Given the description of an element on the screen output the (x, y) to click on. 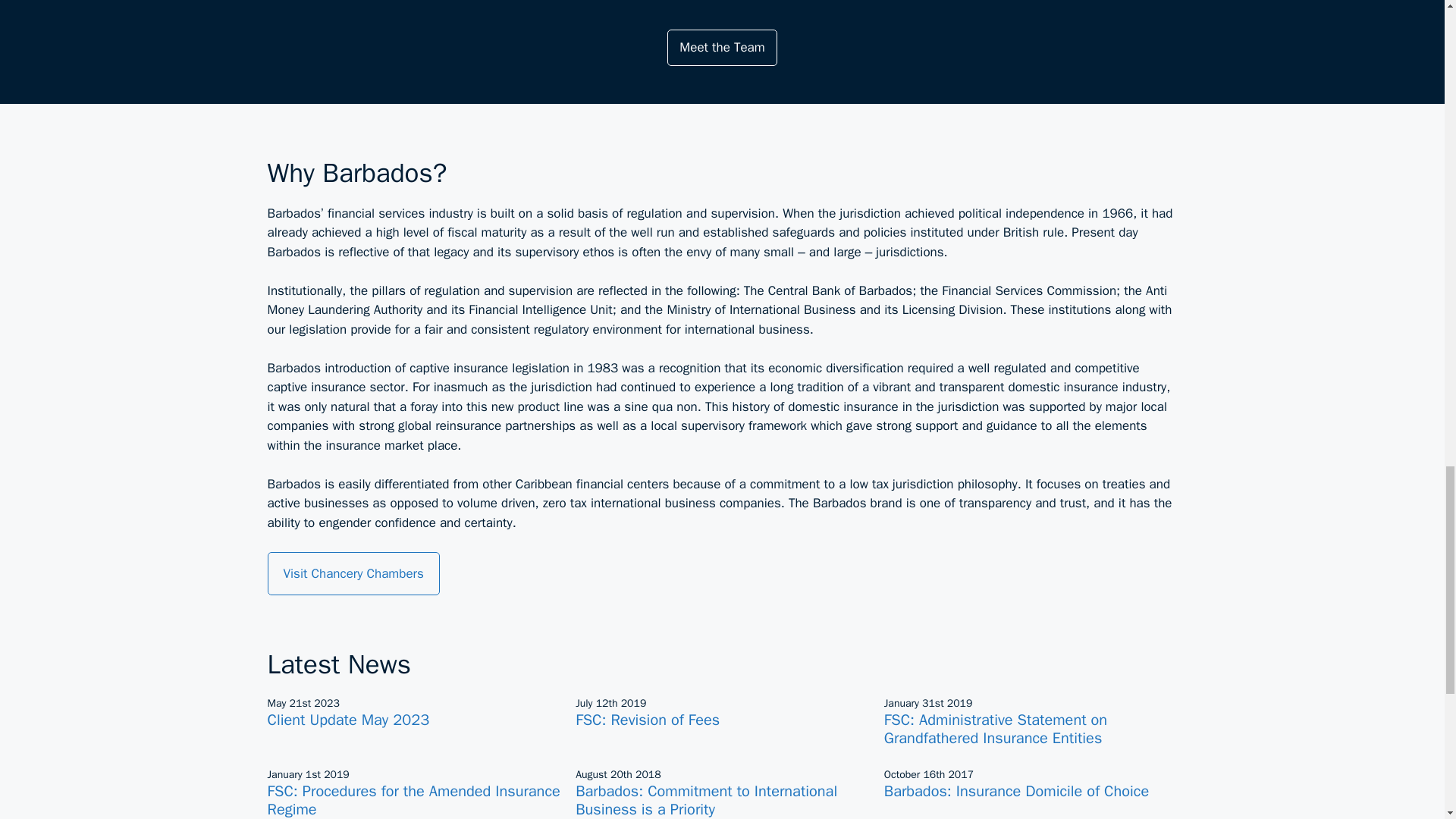
Barbados: Insurance Domicile of Choice (1015, 791)
Client Update May 2023 (347, 719)
Visit Chancery Chambers (352, 574)
FSC: Procedures for the Amended Insurance Regime (412, 800)
FSC: Revision of Fees (647, 719)
Meet the Team (721, 47)
Barbados: Commitment to International Business is a Priority (706, 800)
